Given the description of an element on the screen output the (x, y) to click on. 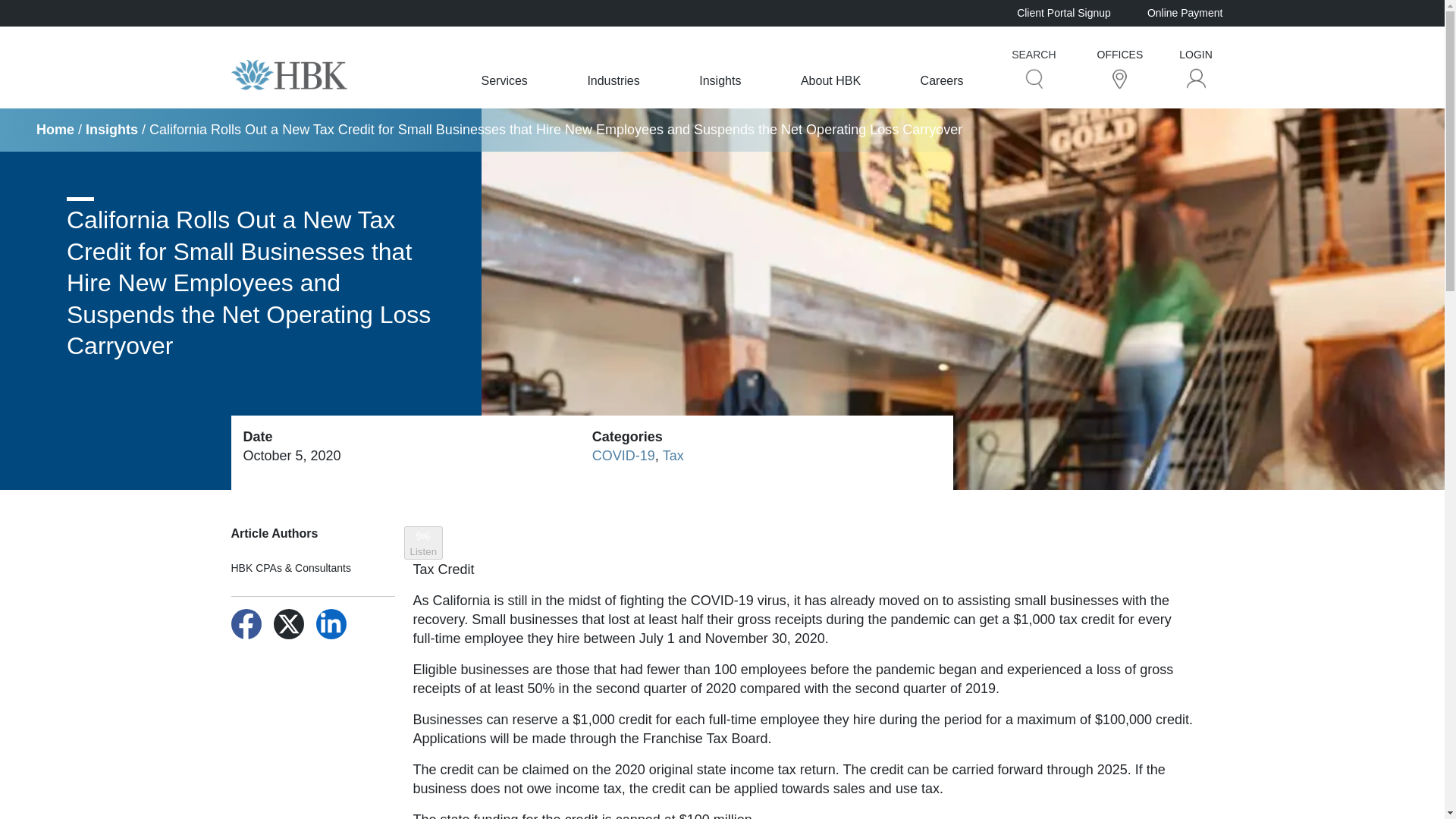
Client Portal Signup (1063, 12)
Login (1196, 78)
Home (55, 129)
SEARCH (1033, 67)
Offices (1119, 78)
Online Payment (1185, 12)
Insights (111, 129)
Tax (673, 455)
OFFICES (1119, 67)
About HBK (830, 80)
Industries (612, 80)
Insights (719, 80)
Services (503, 80)
COVID-19 (623, 455)
Careers (941, 80)
